Given the description of an element on the screen output the (x, y) to click on. 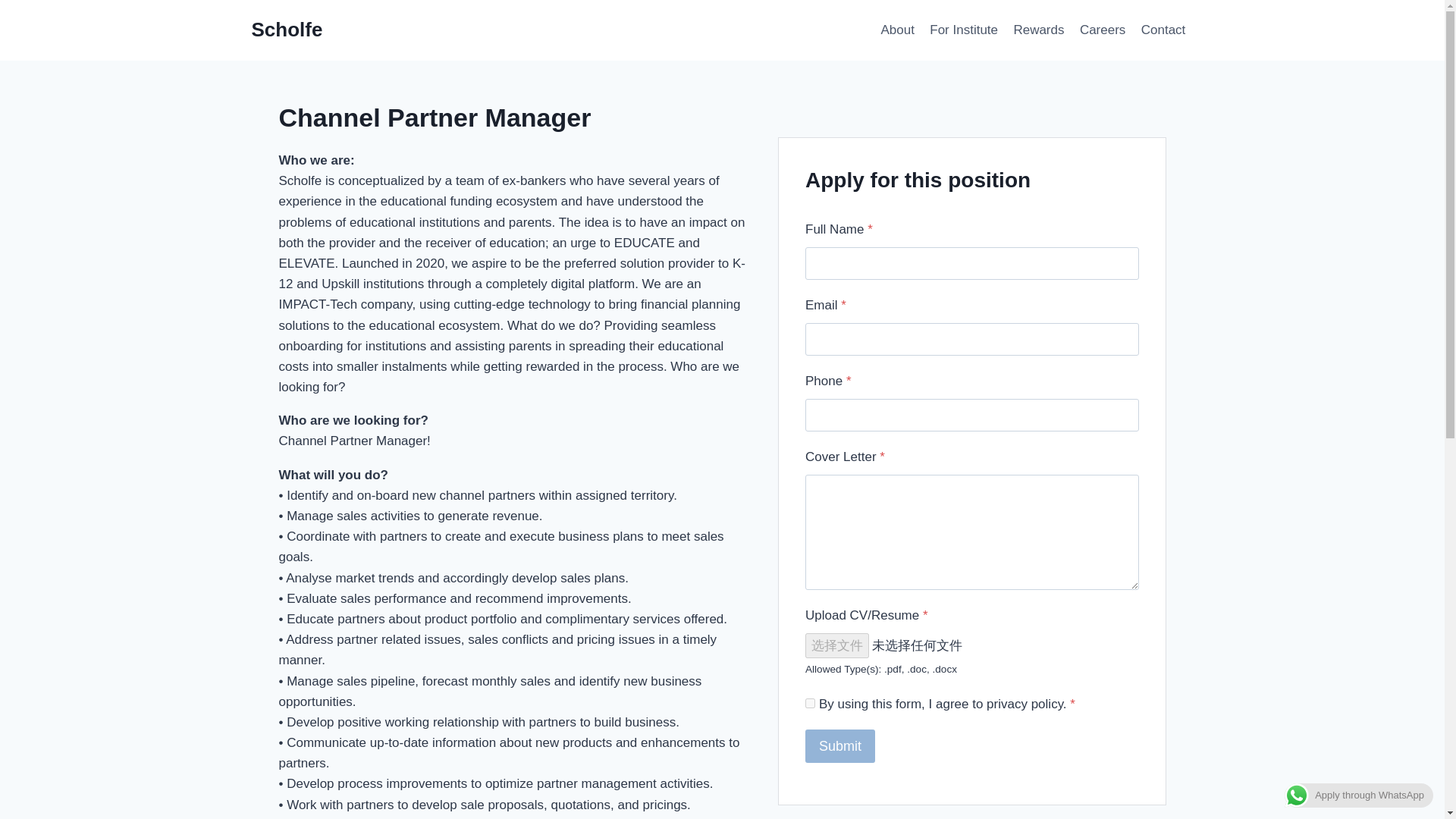
Submit (840, 745)
About (896, 30)
Rewards (1038, 30)
Scholfe (287, 29)
Contact (1163, 30)
For Institute (963, 30)
Submit (840, 745)
yes (810, 703)
Careers (1102, 30)
